Given the description of an element on the screen output the (x, y) to click on. 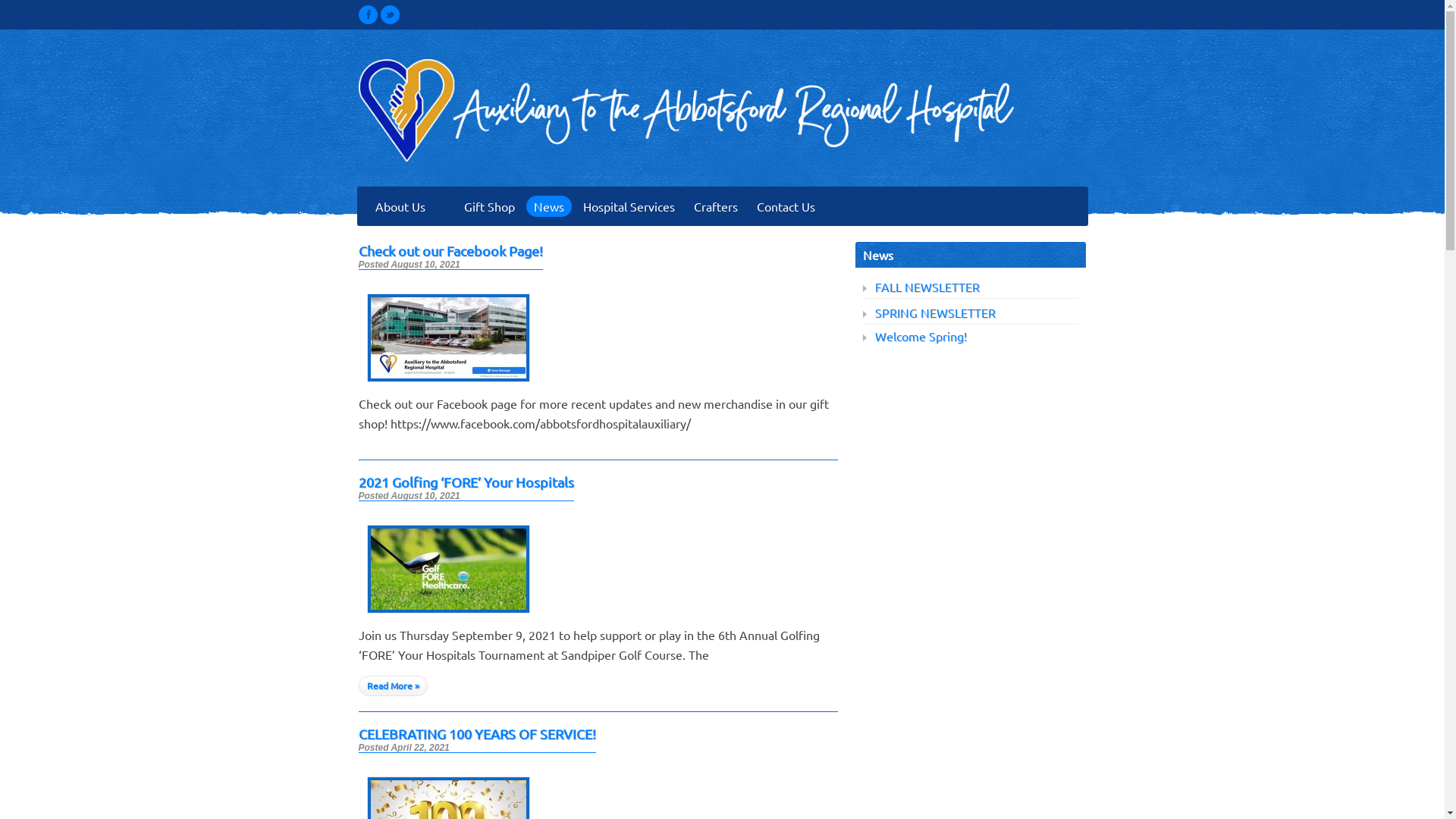
SPRING NEWSLETTER Element type: text (935, 312)
Check out our Facebook Page! Element type: text (449, 250)
FALL NEWSLETTER Element type: text (927, 286)
Welcome Spring! Element type: text (920, 335)
Hospital Services Element type: text (627, 205)
Crafters Element type: text (714, 205)
Contact Us Element type: text (785, 205)
Gift Shop Element type: text (489, 205)
Check out our Facebook Page! Element type: hover (447, 384)
News Element type: text (548, 205)
CELEBRATING 100 YEARS OF SERVICE! Element type: text (476, 733)
